Given the description of an element on the screen output the (x, y) to click on. 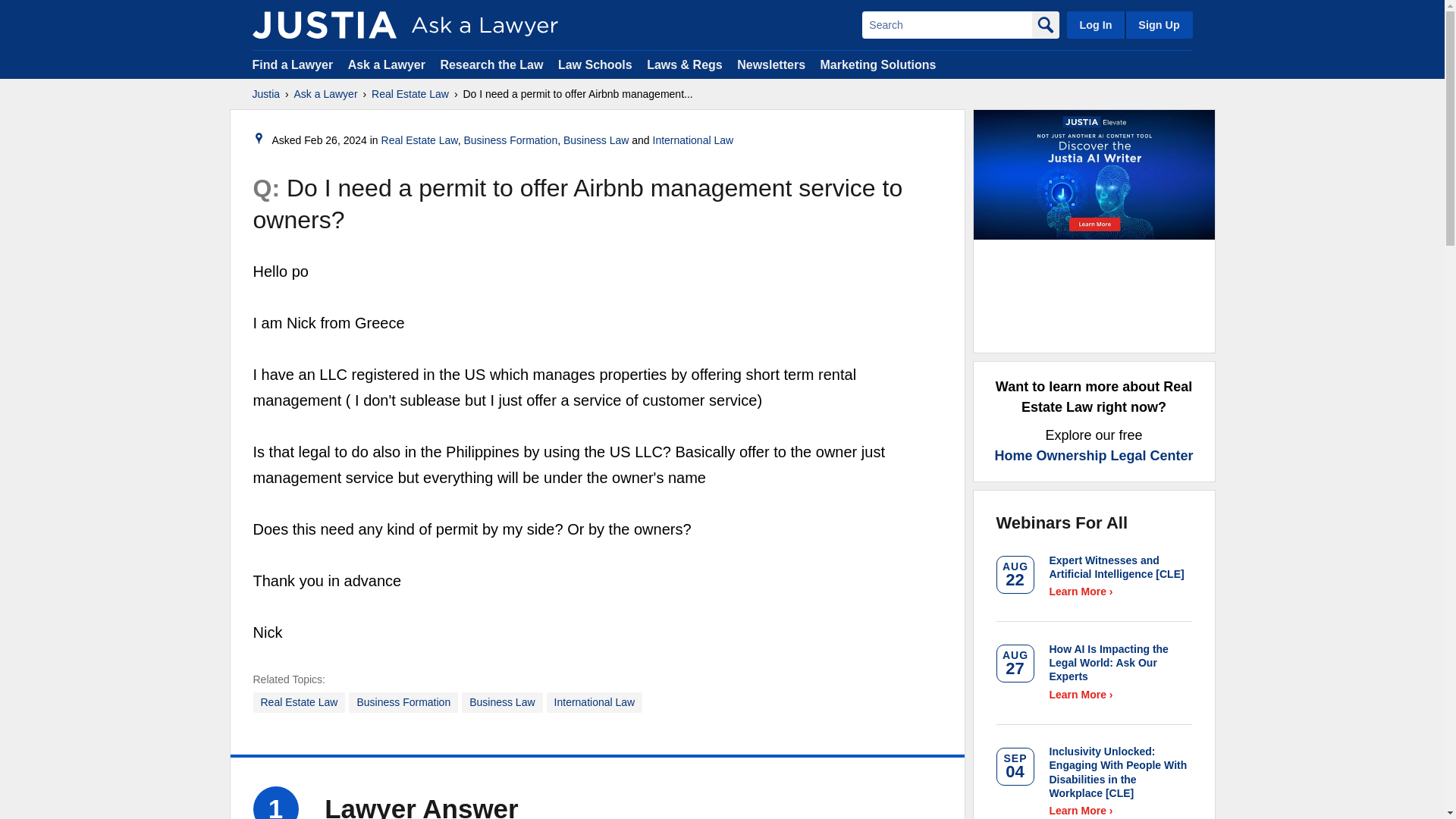
Marketing Solutions (877, 64)
Business Formation (403, 702)
Real Estate Law (419, 140)
Search (945, 24)
Justia (265, 93)
2024-02-26T01:30:15-08:00 (335, 140)
Ask a Lawyer (326, 93)
Real Estate Law (299, 702)
Newsletters (770, 64)
Find a Lawyer (292, 64)
